Given the description of an element on the screen output the (x, y) to click on. 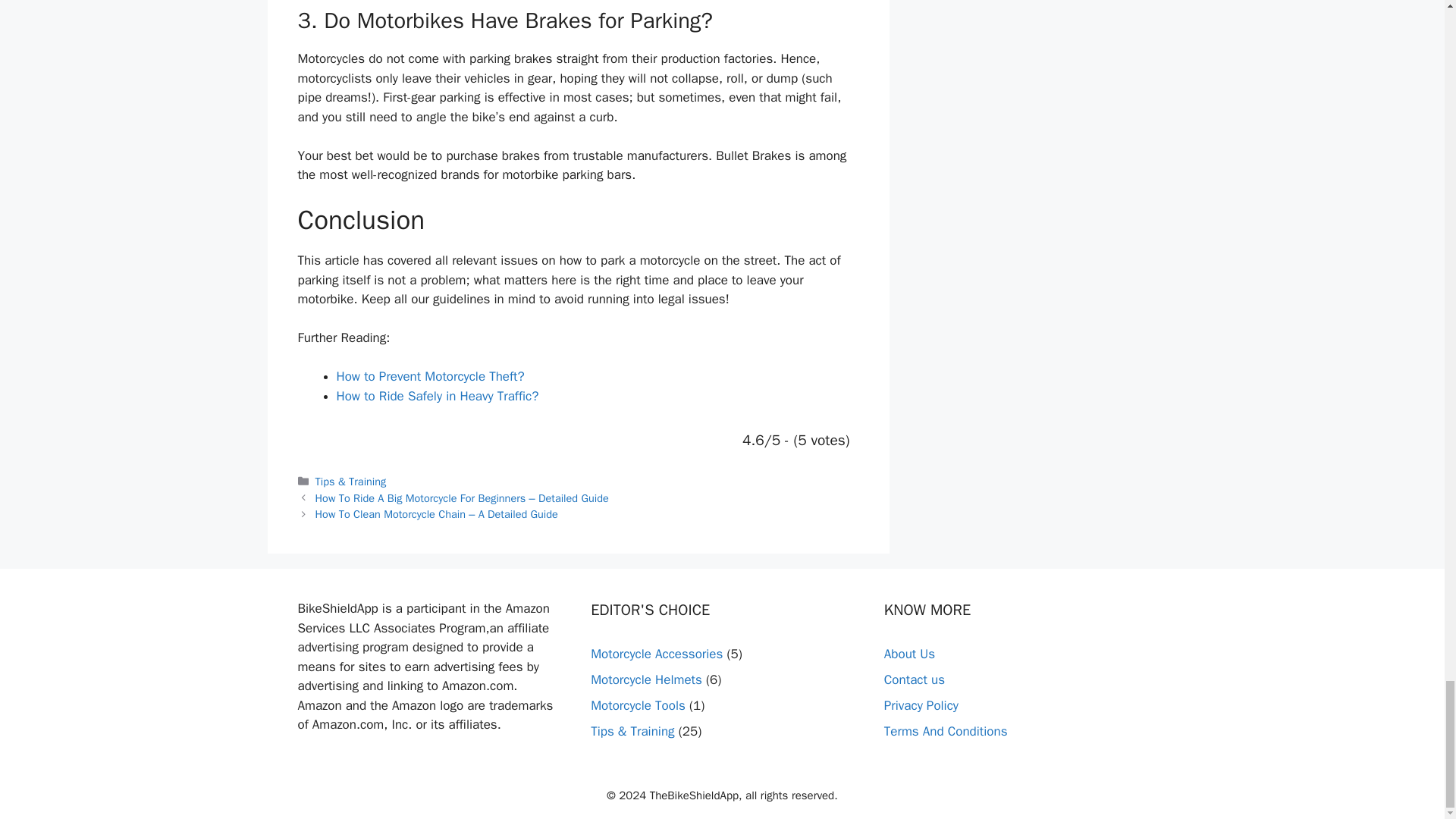
Motorcycle Tools (638, 705)
Motorcycle Accessories (656, 653)
Contact us (913, 679)
Terms And Conditions (945, 731)
Privacy Policy (920, 705)
How to Ride Safely in Heavy Traffic? (437, 396)
About Us (908, 653)
Motorcycle Helmets (646, 679)
How to Prevent Motorcycle Theft? (430, 376)
